Given the description of an element on the screen output the (x, y) to click on. 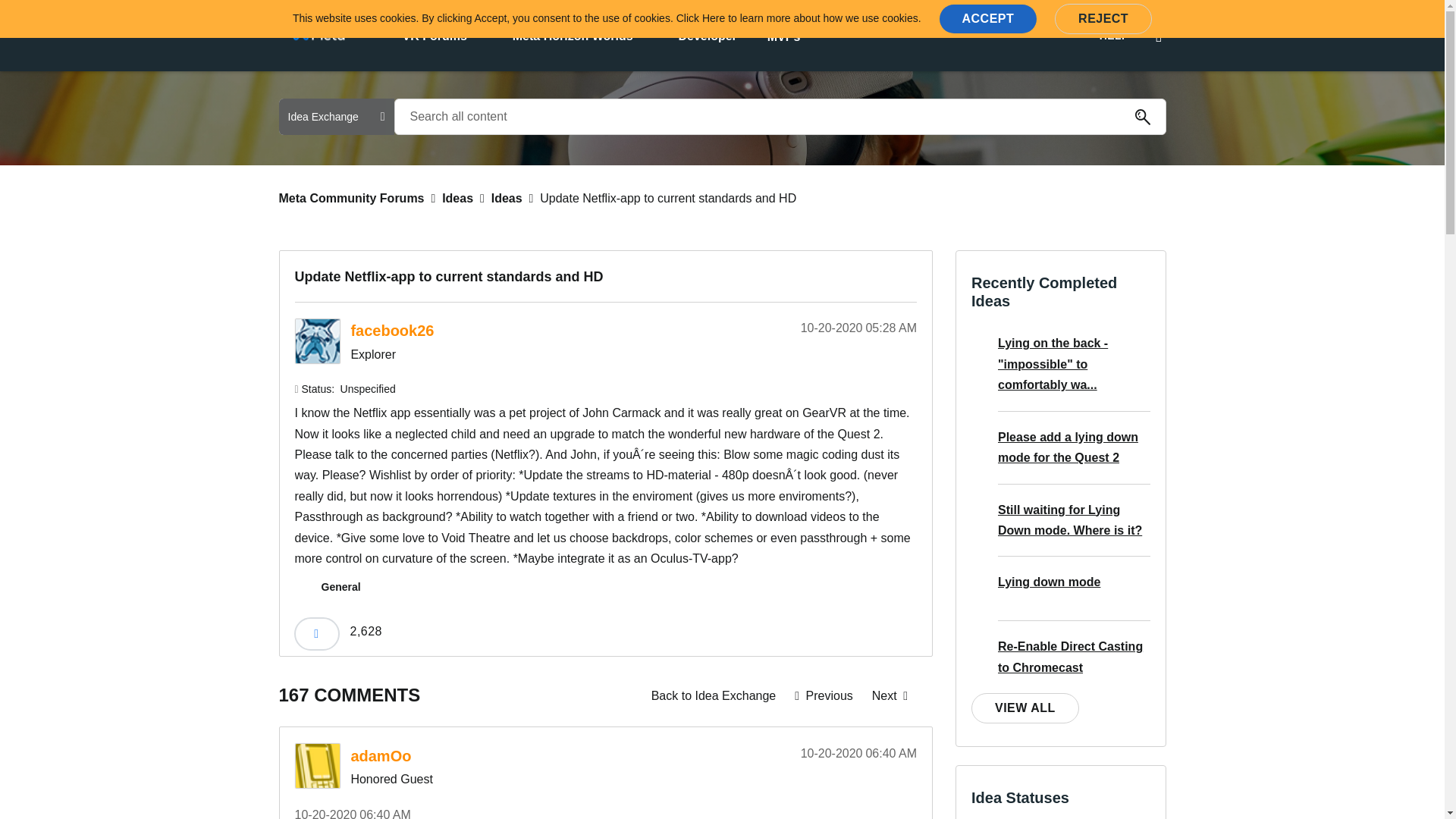
REJECT (1102, 19)
Click here to give kudos to this post. (316, 633)
VR Forums (433, 35)
Posted on (845, 327)
Search (1141, 116)
Ideas (714, 695)
ACCEPT (987, 18)
Search (1141, 116)
HELP (1113, 35)
Search Granularity (336, 116)
